Given the description of an element on the screen output the (x, y) to click on. 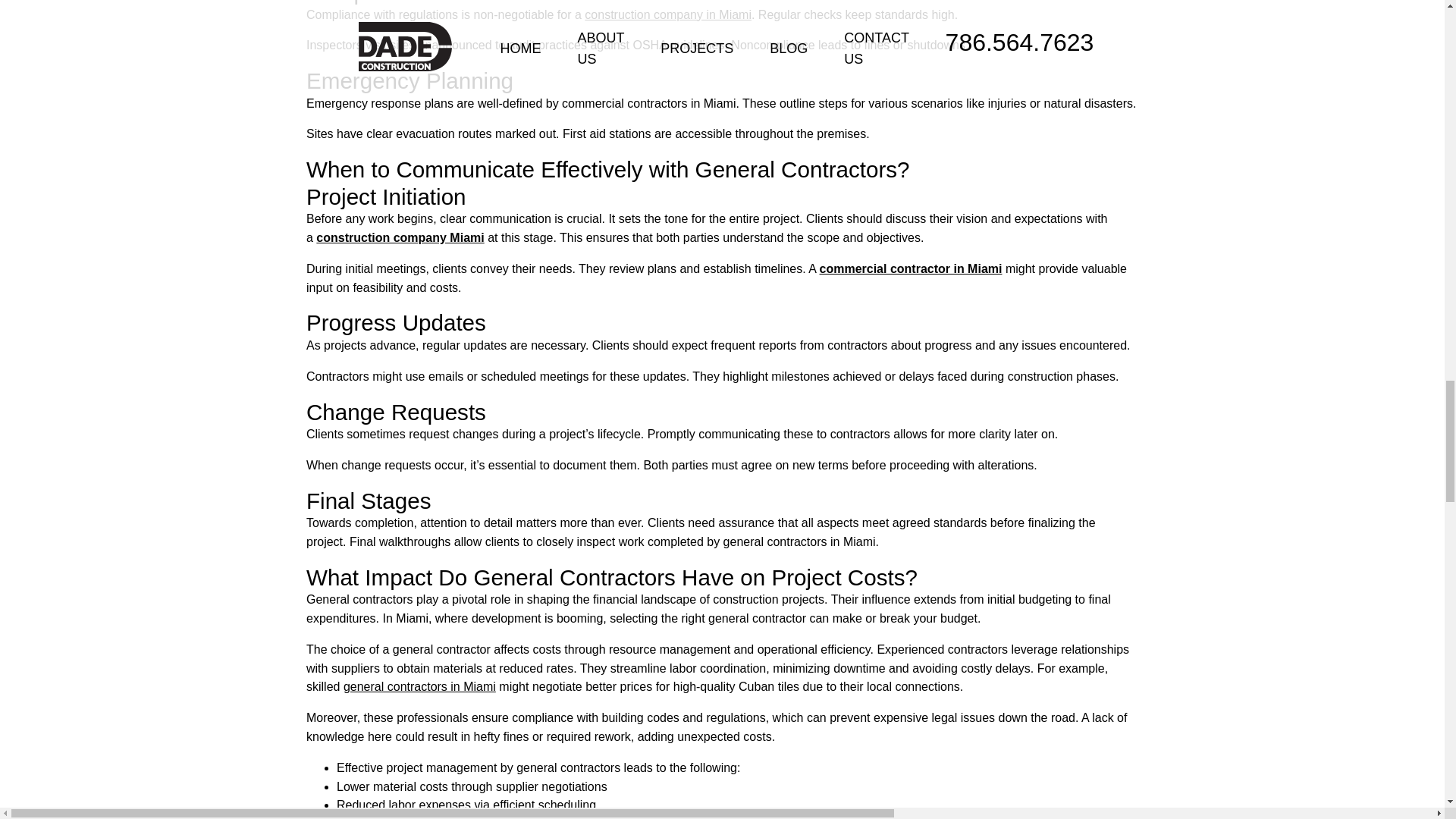
construction company in Miami (668, 14)
construction company Miami (399, 237)
general contractors in Miami (419, 686)
commercial contractor in Miami (909, 268)
